Given the description of an element on the screen output the (x, y) to click on. 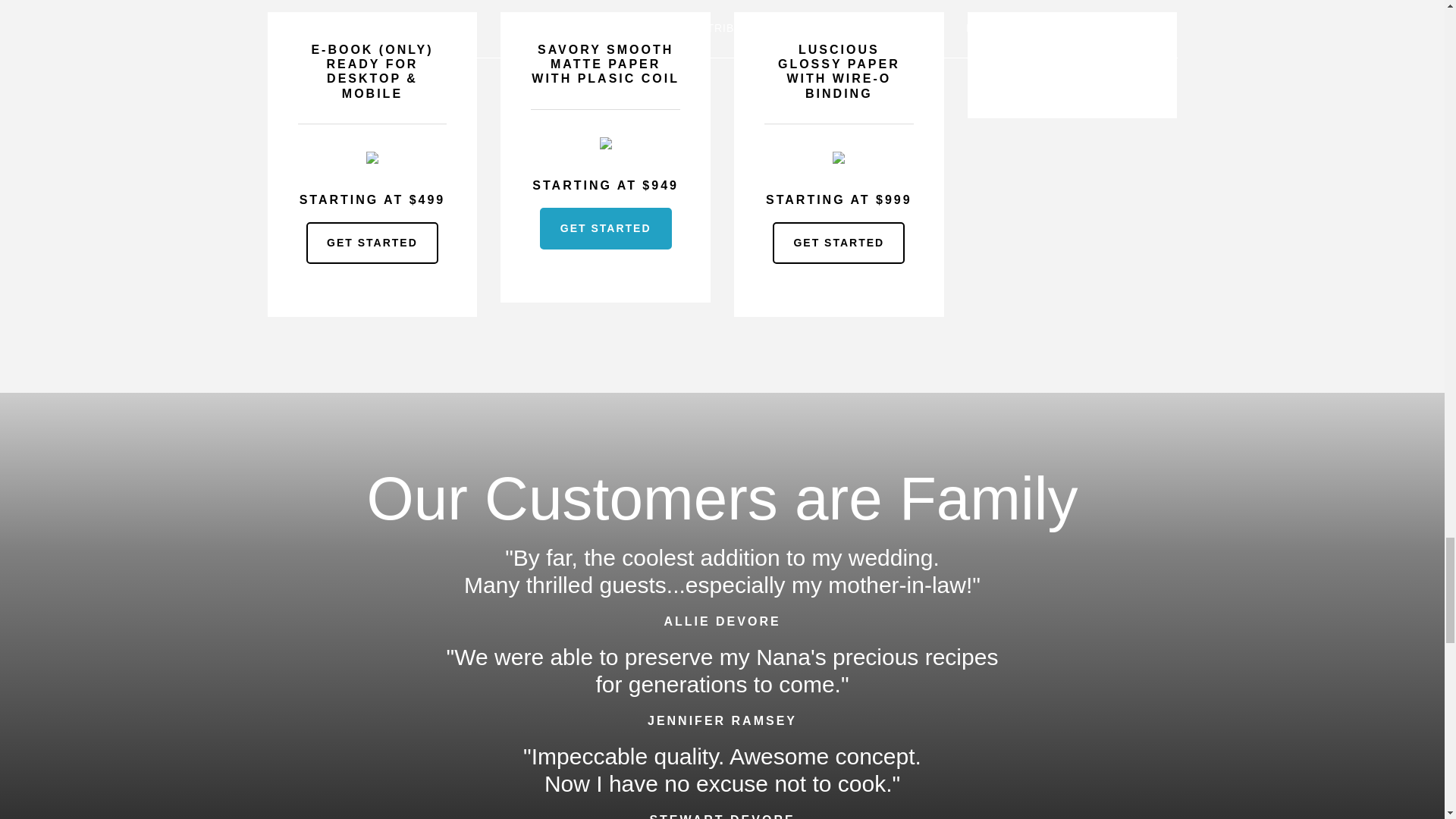
GET STARTED (605, 228)
GET STARTED (371, 242)
GET STARTED (838, 242)
